Given the description of an element on the screen output the (x, y) to click on. 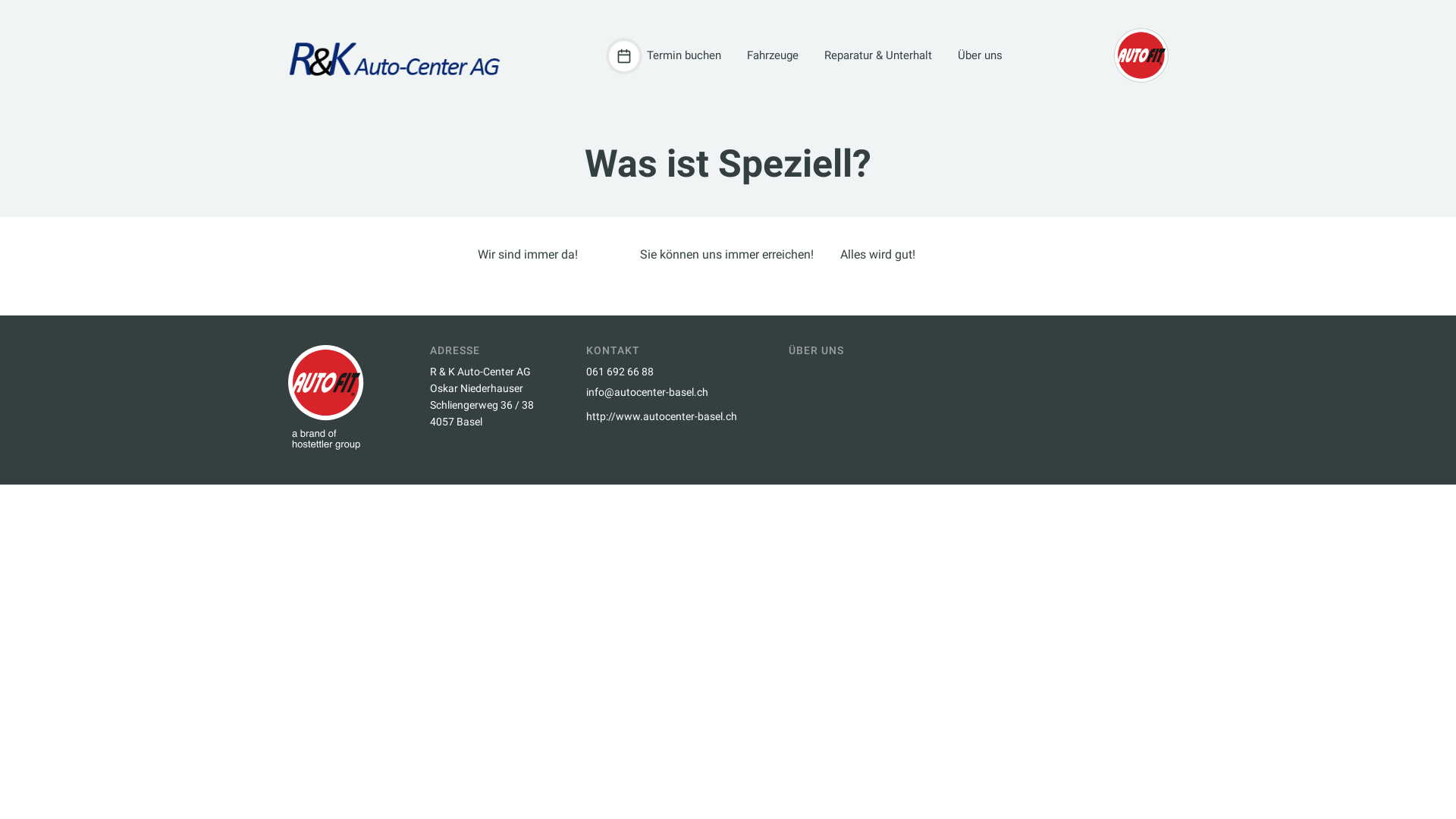
Termin buchen Element type: text (664, 55)
info@autocenter-basel.ch Element type: text (661, 392)
Reparatur & Unterhalt Element type: text (874, 55)
Fahrzeuge Element type: text (768, 55)
http://www.autocenter-basel.ch Element type: text (661, 416)
